Given the description of an element on the screen output the (x, y) to click on. 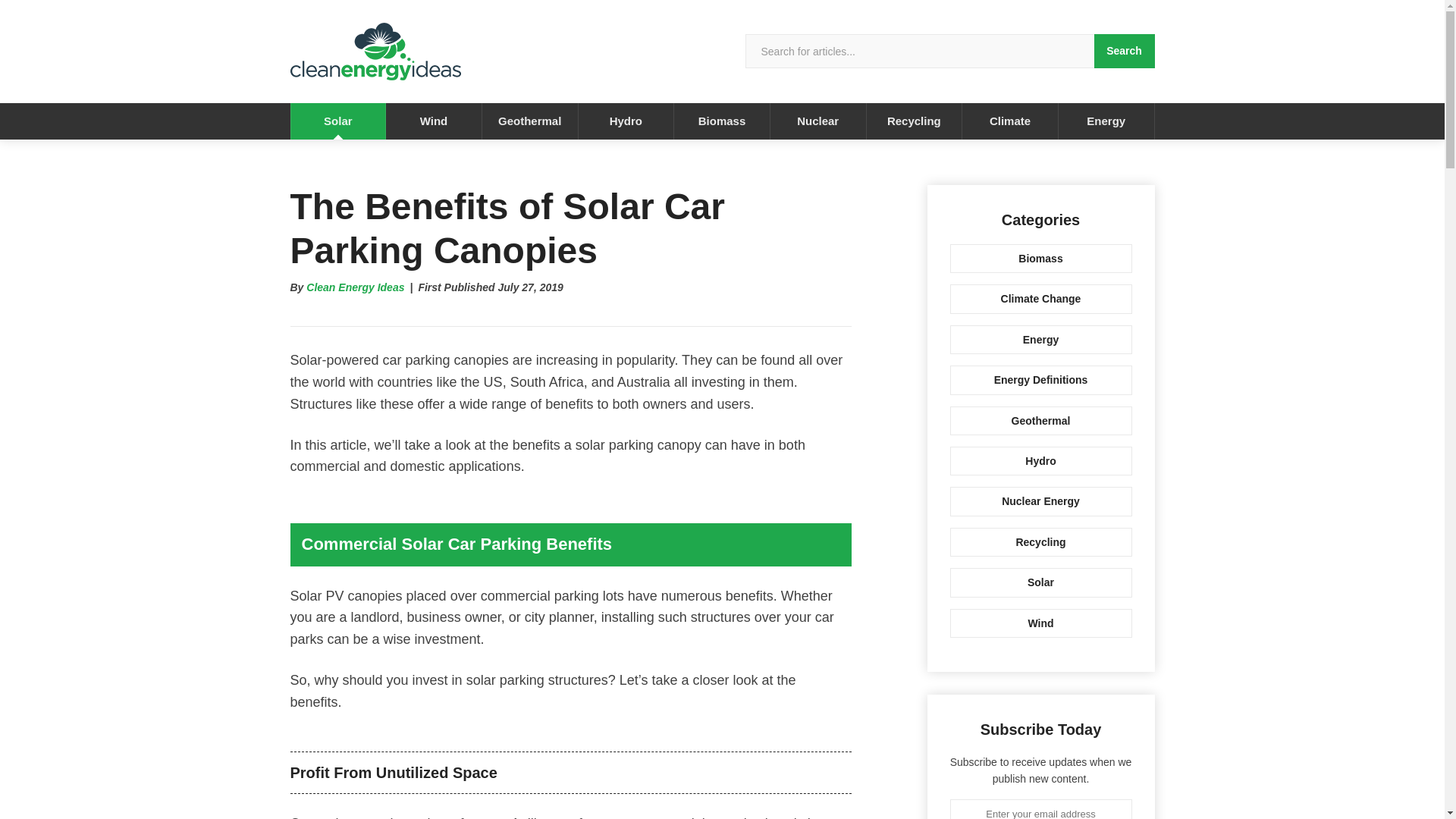
Energy Definitions (1040, 379)
Clean Energy Ideas (354, 287)
Recycling (914, 121)
Clean Energy Ideas (354, 287)
Biomass (1040, 258)
Wind (433, 121)
Geothermal (529, 121)
Nuclear (818, 121)
Energy (1106, 121)
Recycling (1040, 541)
